Given the description of an element on the screen output the (x, y) to click on. 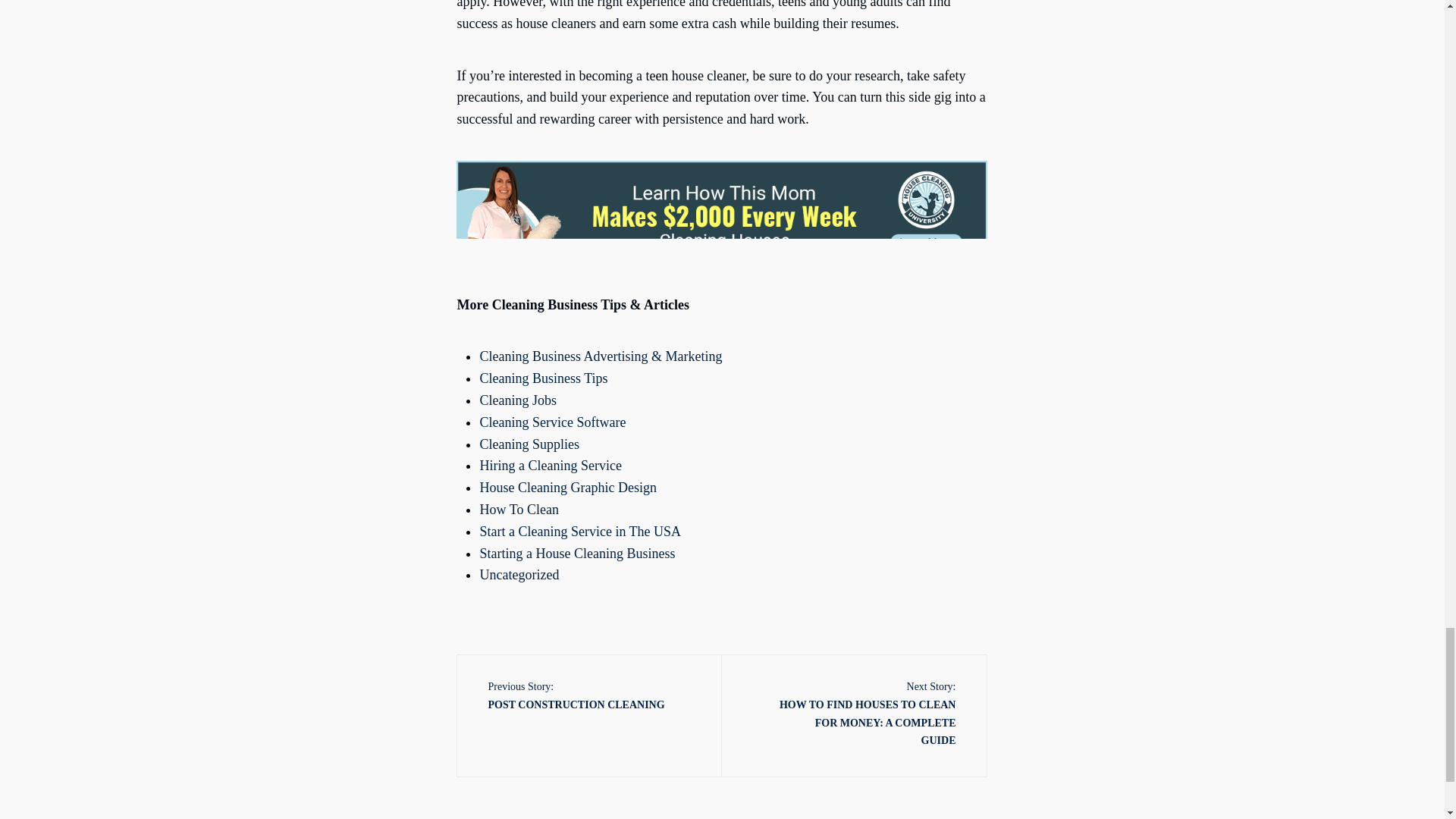
How To Clean (575, 698)
Hiring a Cleaning Service (518, 509)
House Cleaning Graphic Design (550, 465)
Cleaning Service Software (567, 487)
Cleaning Jobs (552, 421)
Cleaning Business Tips (517, 400)
Uncategorized (543, 378)
Starting a House Cleaning Business (519, 574)
